Given the description of an element on the screen output the (x, y) to click on. 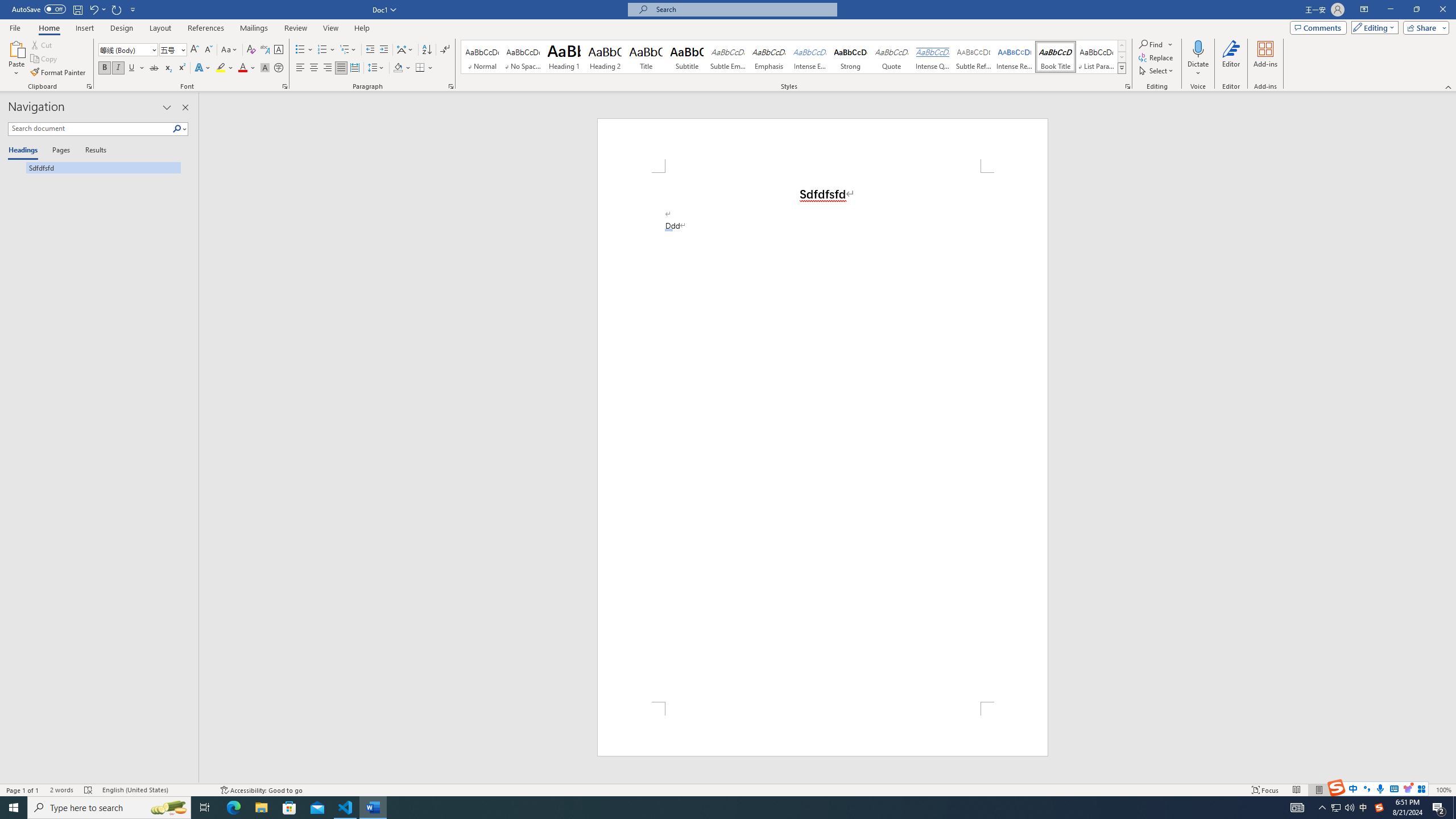
Font Color (246, 67)
Open (182, 49)
Bullets (300, 49)
Collapse the Ribbon (1448, 86)
Share (1423, 27)
Class: NetUIImage (1121, 68)
View (330, 28)
Character Shading (264, 67)
Change Case (229, 49)
Styles... (1127, 85)
Mode (1372, 27)
Decrease Indent (370, 49)
Minimize (1390, 9)
Headings (25, 150)
